Given the description of an element on the screen output the (x, y) to click on. 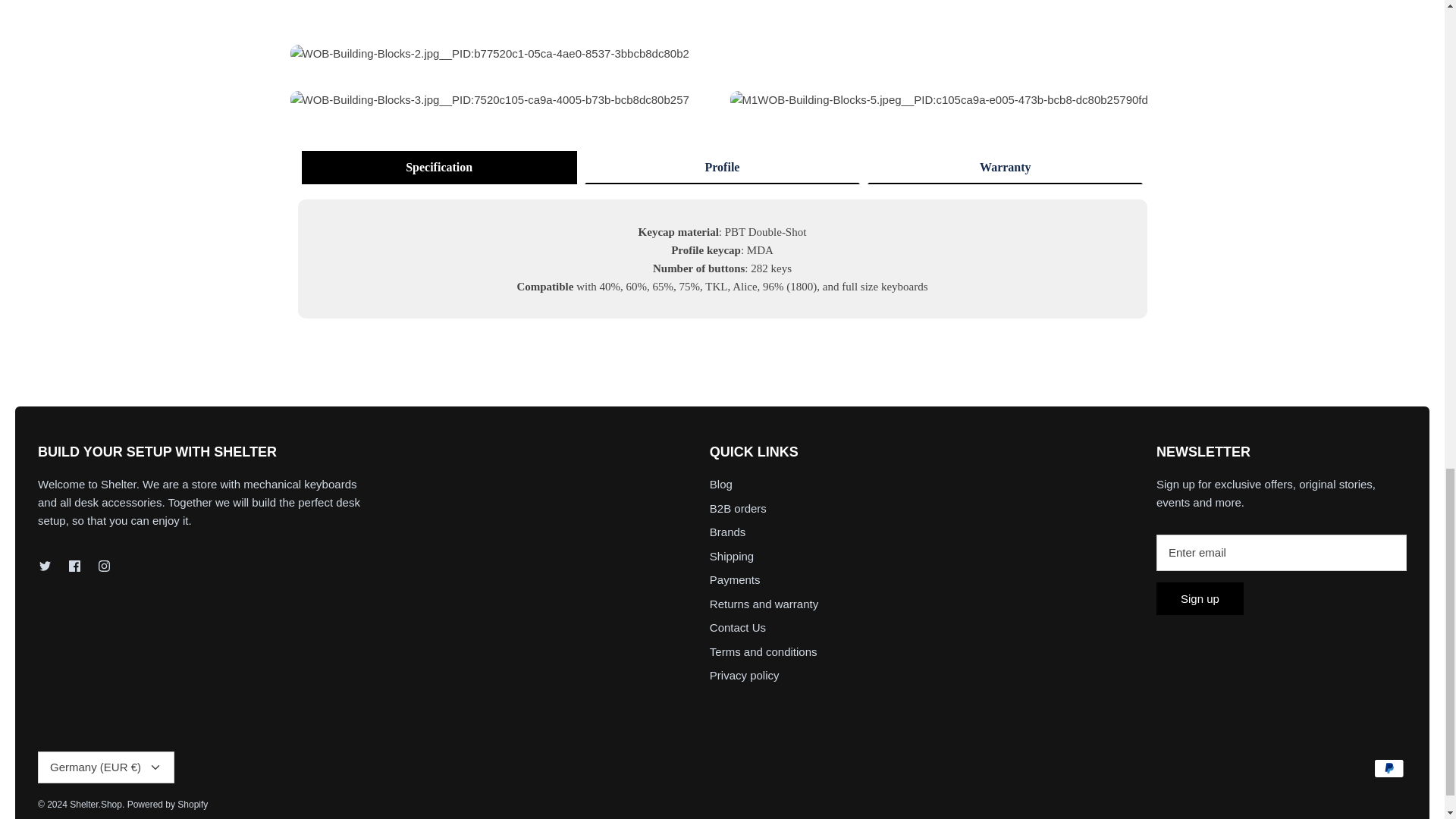
PayPal (1388, 768)
Instagram (104, 565)
Twitter (44, 565)
Facebook (74, 565)
